Given the description of an element on the screen output the (x, y) to click on. 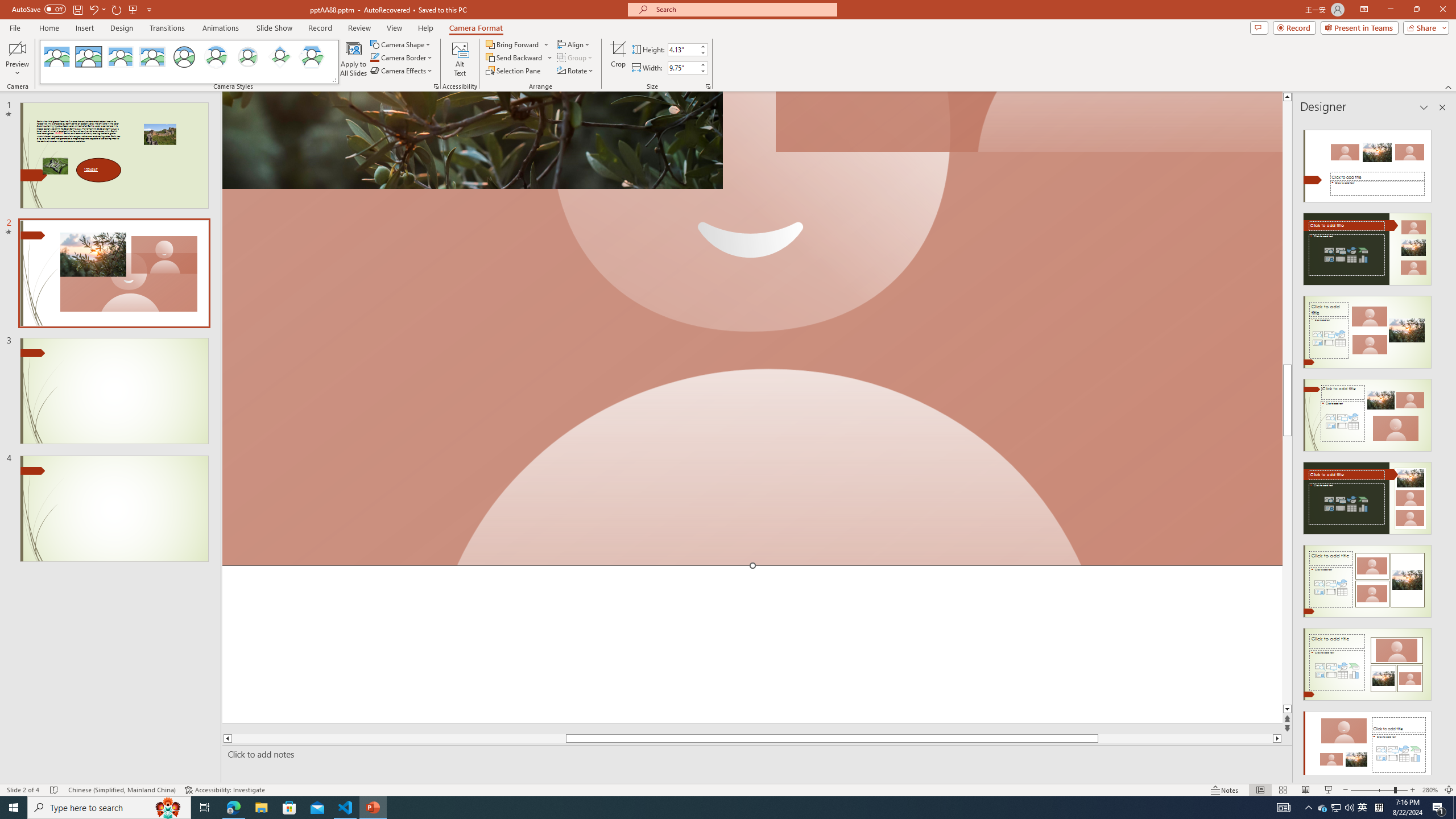
More (702, 64)
Camera 13, No camera detected. (752, 328)
